Given the description of an element on the screen output the (x, y) to click on. 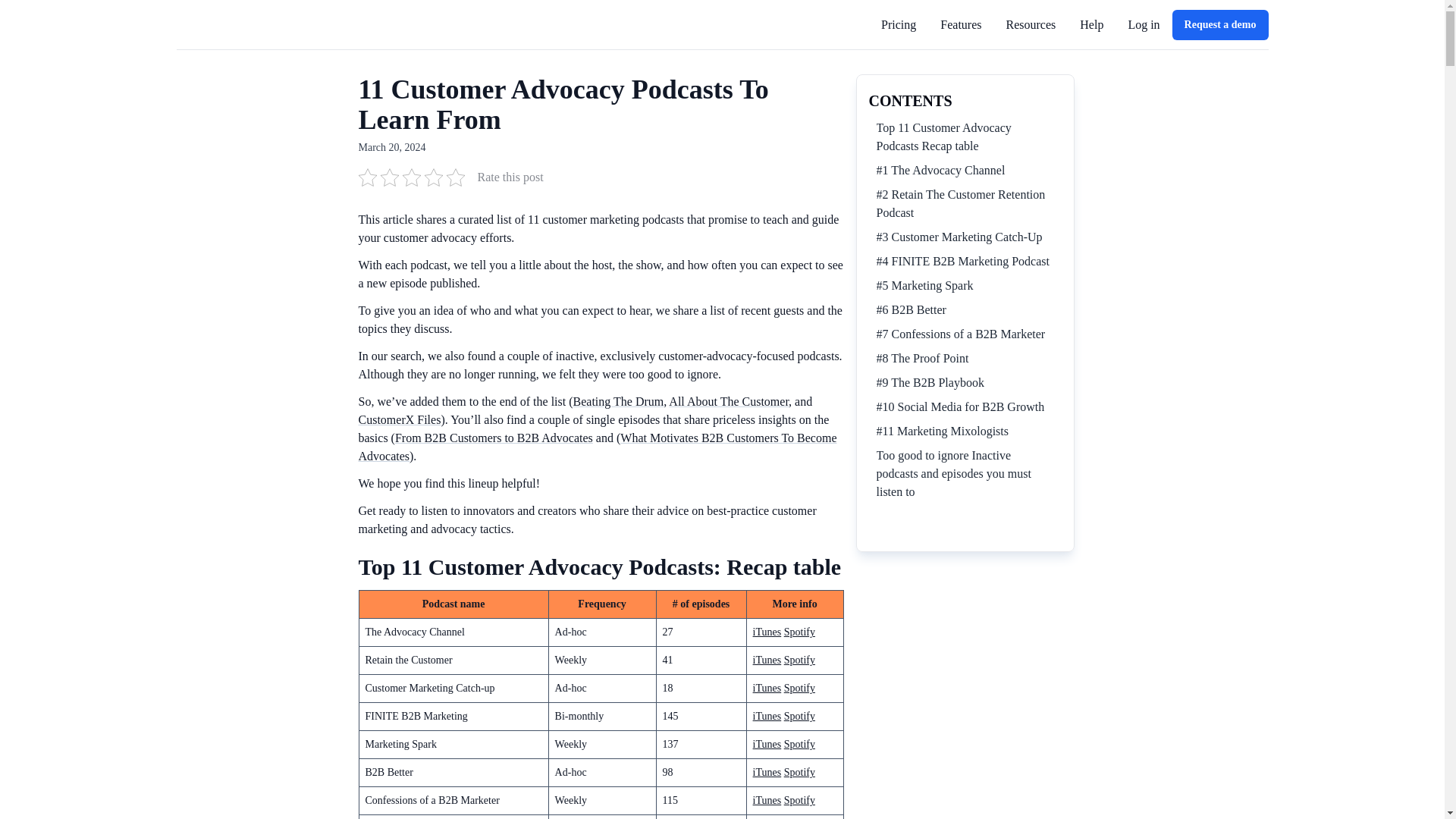
Pricing (897, 24)
What Motivates B2B Customers To Become Advocates (596, 446)
Spotify (799, 687)
Features (960, 24)
Top 11 Customer Advocacy Podcasts Recap table (965, 136)
Beating The Drum (618, 400)
Spotify (799, 715)
Request a demo (1220, 24)
Help (1091, 24)
iTunes (766, 687)
